Given the description of an element on the screen output the (x, y) to click on. 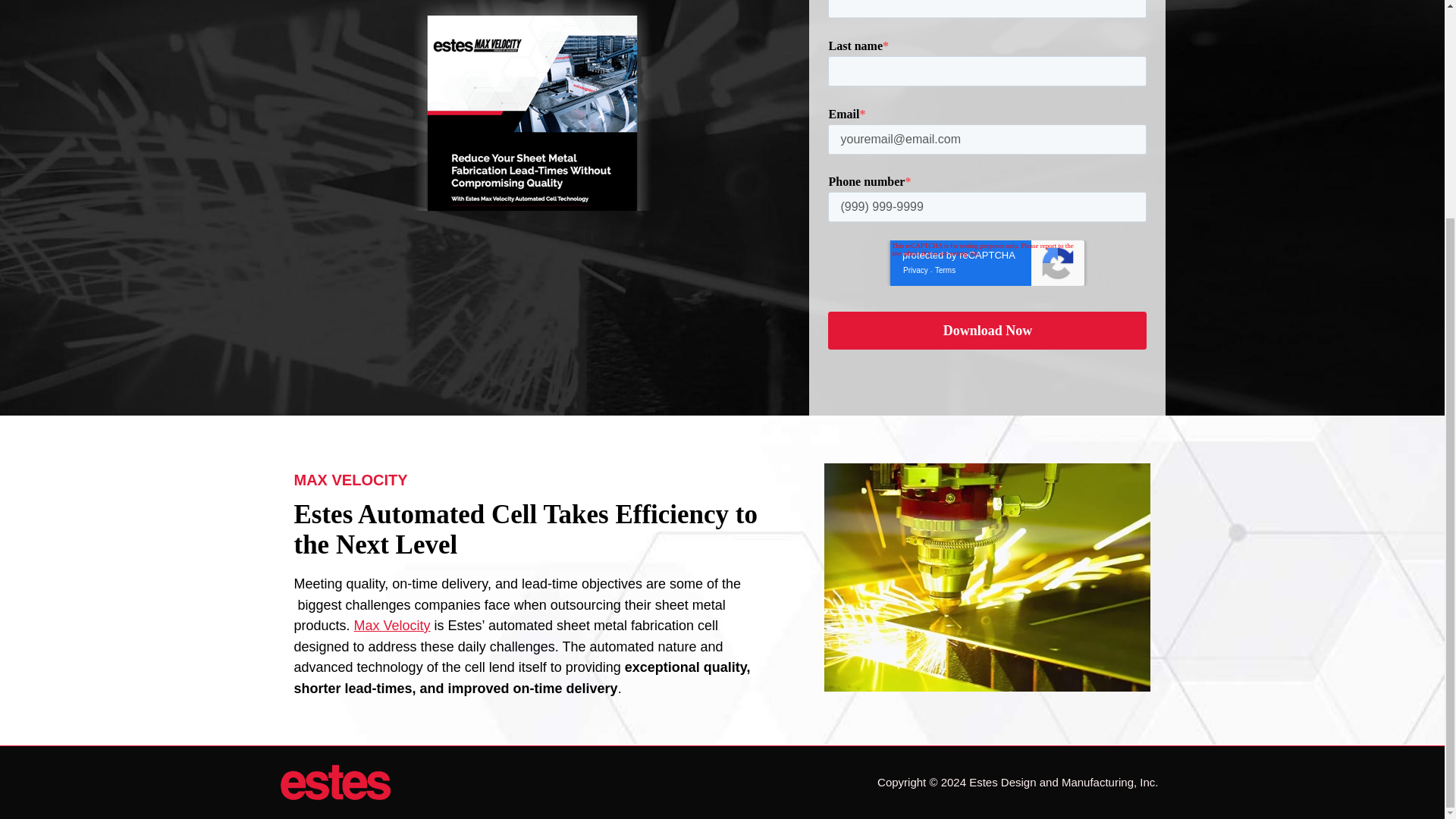
Download Now (987, 330)
reCAPTCHA (986, 262)
